Given the description of an element on the screen output the (x, y) to click on. 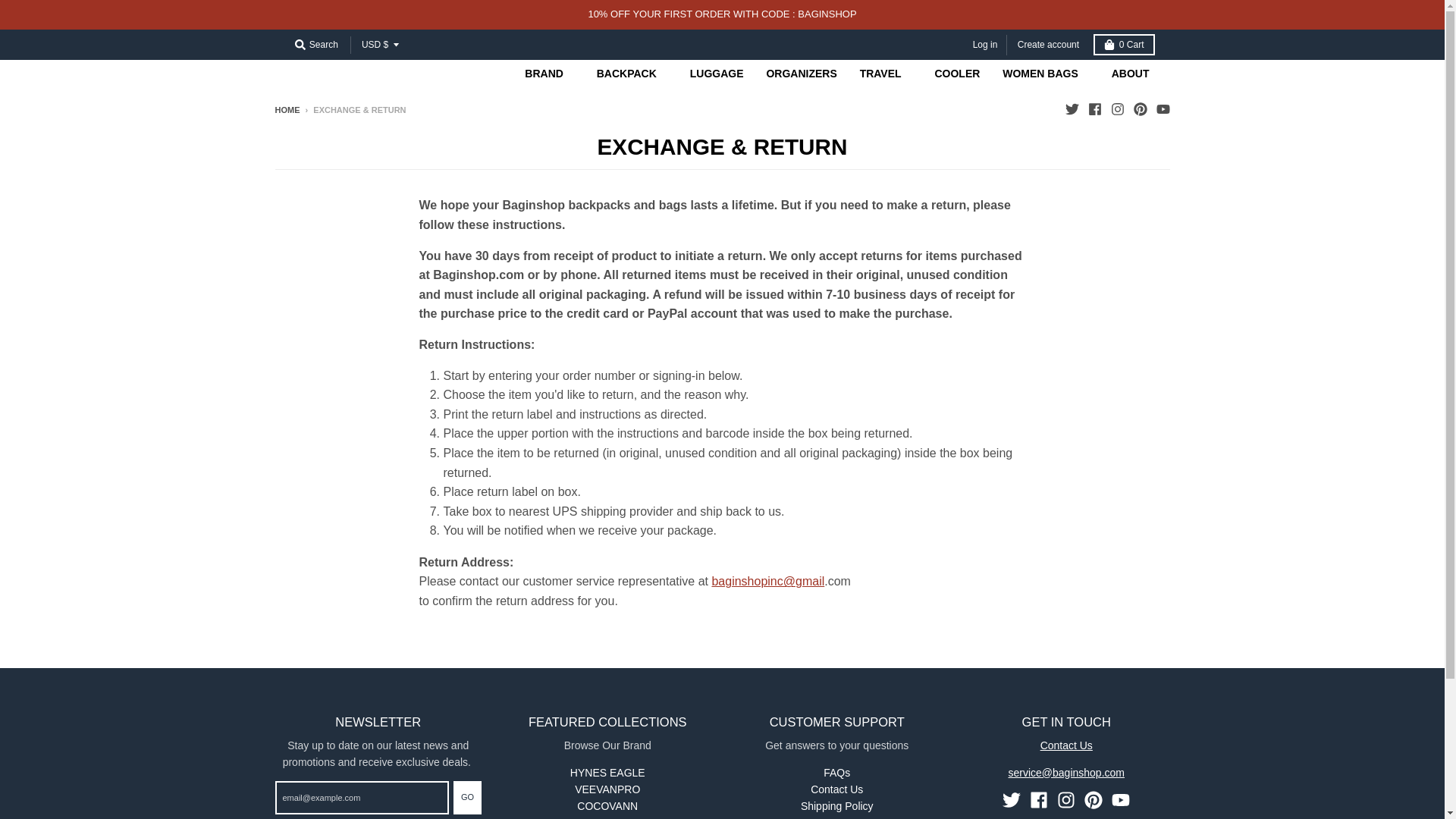
Facebook - BAGINSHOP (1038, 800)
BRAND (549, 72)
Facebook - BAGINSHOP (1093, 109)
BACKPACK (631, 72)
YouTube - BAGINSHOP (1120, 800)
Log in (985, 45)
Twitter - BAGINSHOP (1011, 800)
Instagram - BAGINSHOP (1066, 800)
Back to the frontpage (287, 109)
ORGANIZERS (800, 72)
